Given the description of an element on the screen output the (x, y) to click on. 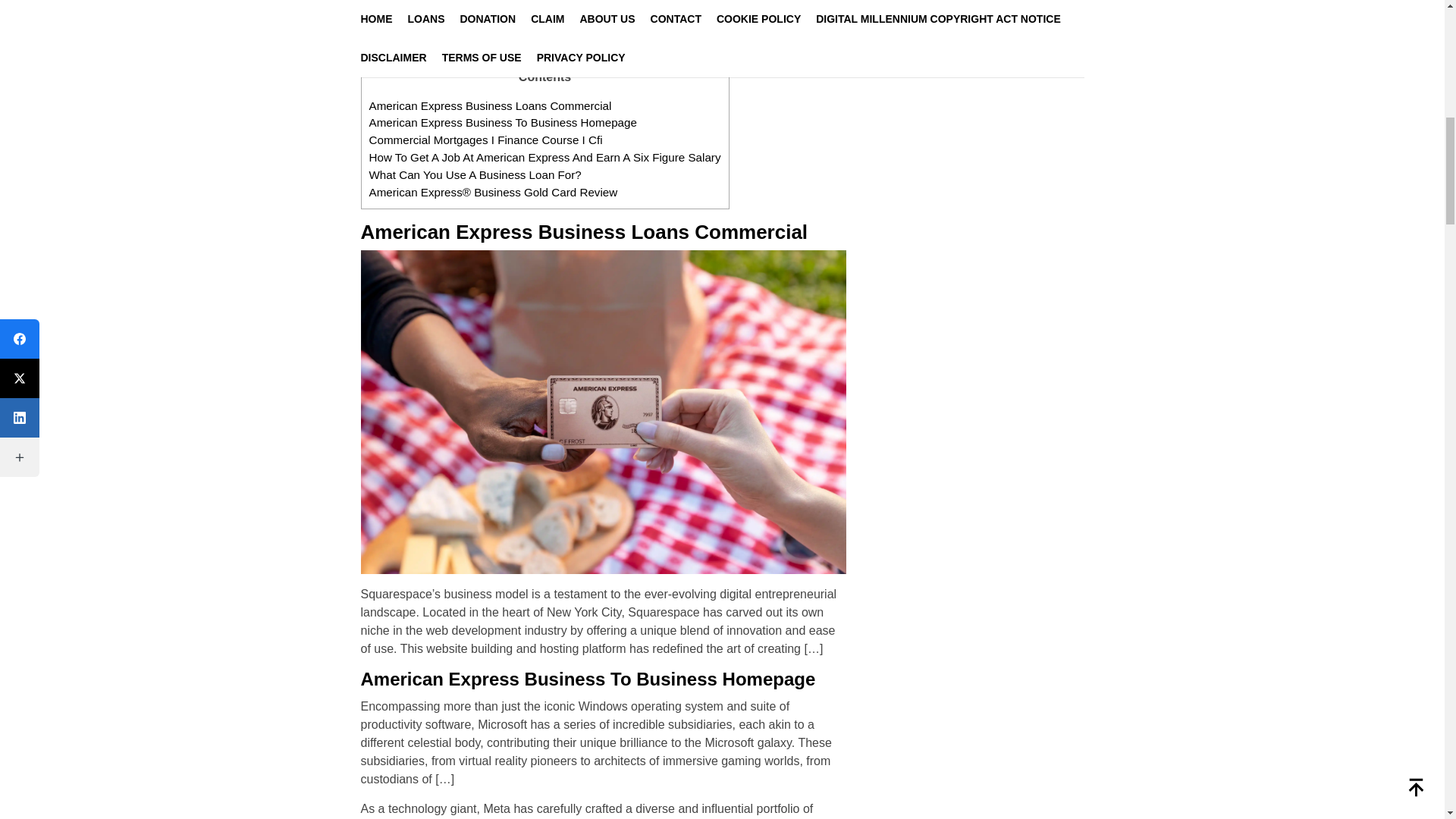
American Express Business Loans Commercial (489, 105)
American Express Business To Business Homepage (502, 122)
Commercial Mortgages I Finance Course I Cfi (485, 139)
What Can You Use A Business Loan For? (474, 174)
